Given the description of an element on the screen output the (x, y) to click on. 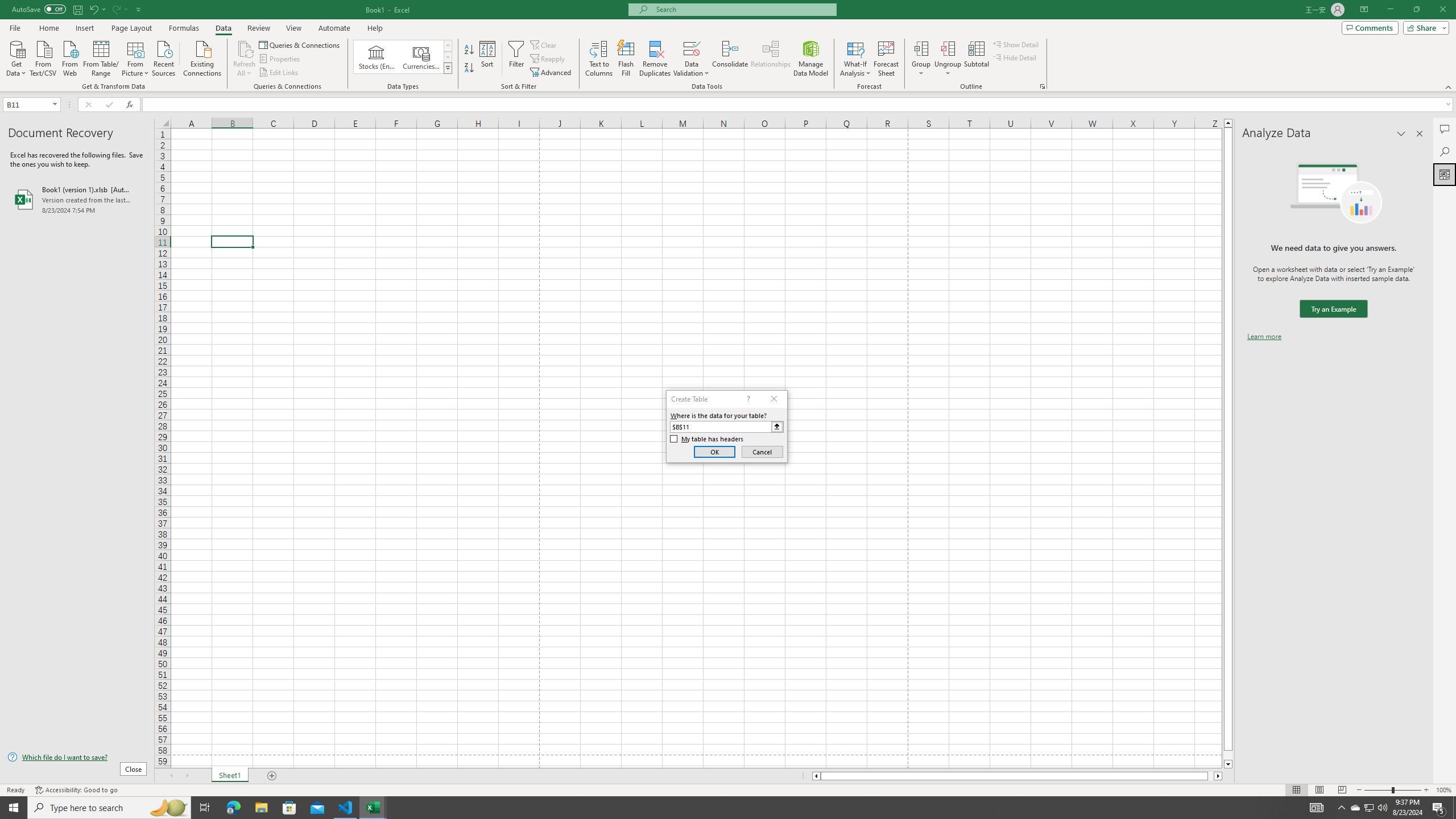
Recent Sources (163, 57)
Sort... (487, 58)
Learn more (1264, 336)
Sort Z to A (469, 67)
Class: MsoCommandBar (728, 45)
Properties (280, 58)
Class: NetUIImage (447, 68)
